Given the description of an element on the screen output the (x, y) to click on. 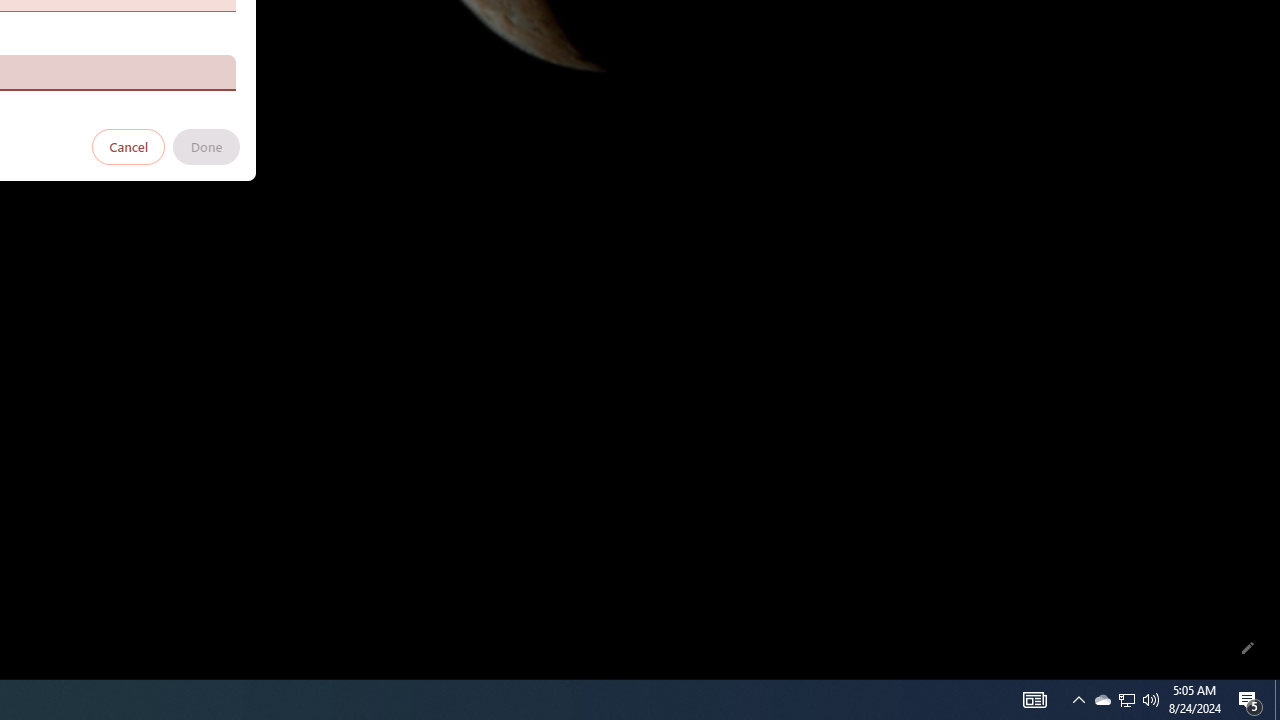
Cancel (129, 146)
Done (206, 146)
